Given the description of an element on the screen output the (x, y) to click on. 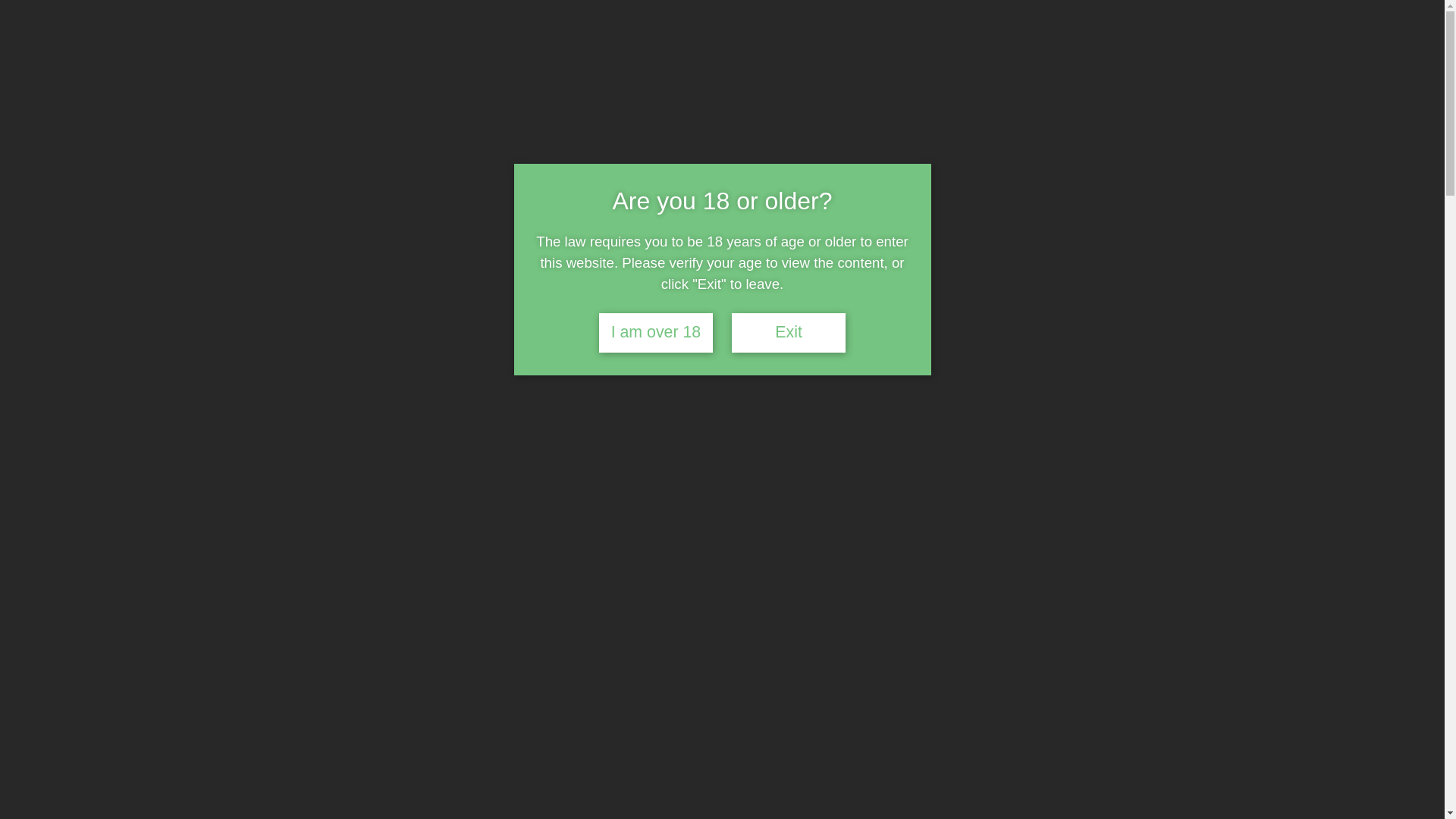
Ganjactivist.com T.V (748, 185)
Home (279, 185)
Ganjactivist.com Magazine (406, 185)
Ganjactivist.com Podcasts (586, 185)
